Given the description of an element on the screen output the (x, y) to click on. 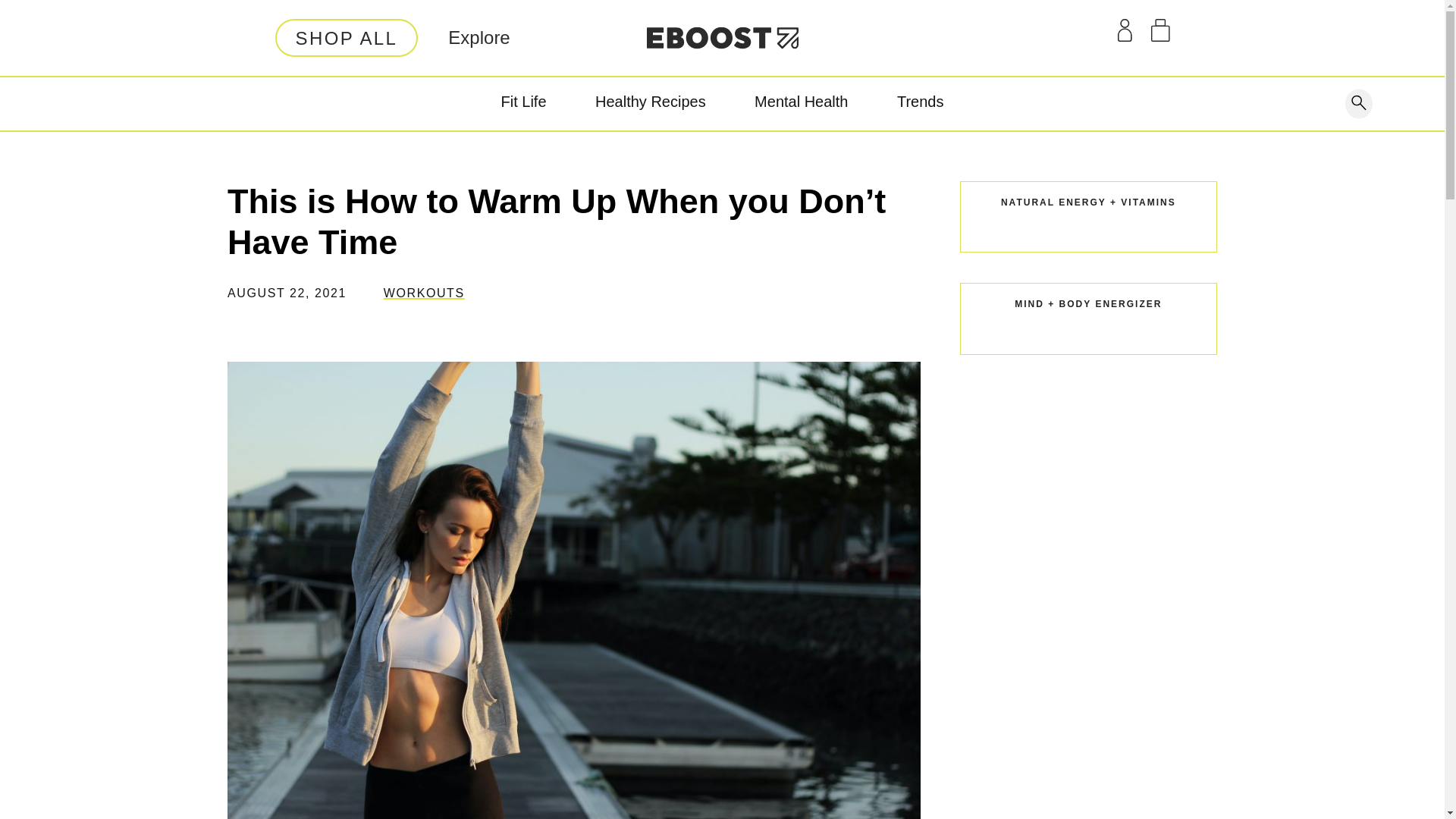
Fit Life (523, 103)
Workouts Page (424, 292)
SHOP ALL (346, 37)
Explore (478, 37)
